Given the description of an element on the screen output the (x, y) to click on. 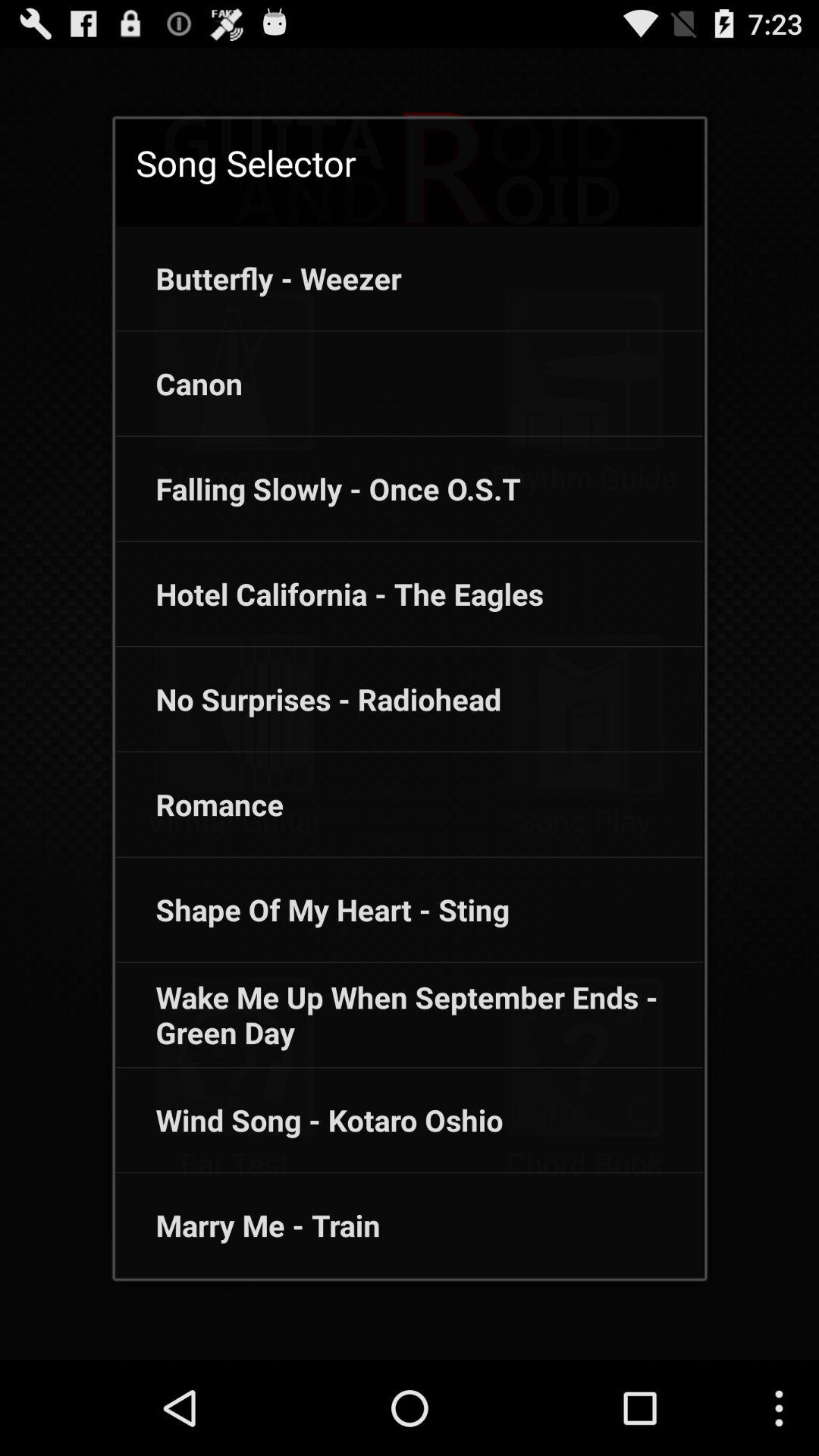
flip to the no surprises - radiohead app (308, 699)
